Given the description of an element on the screen output the (x, y) to click on. 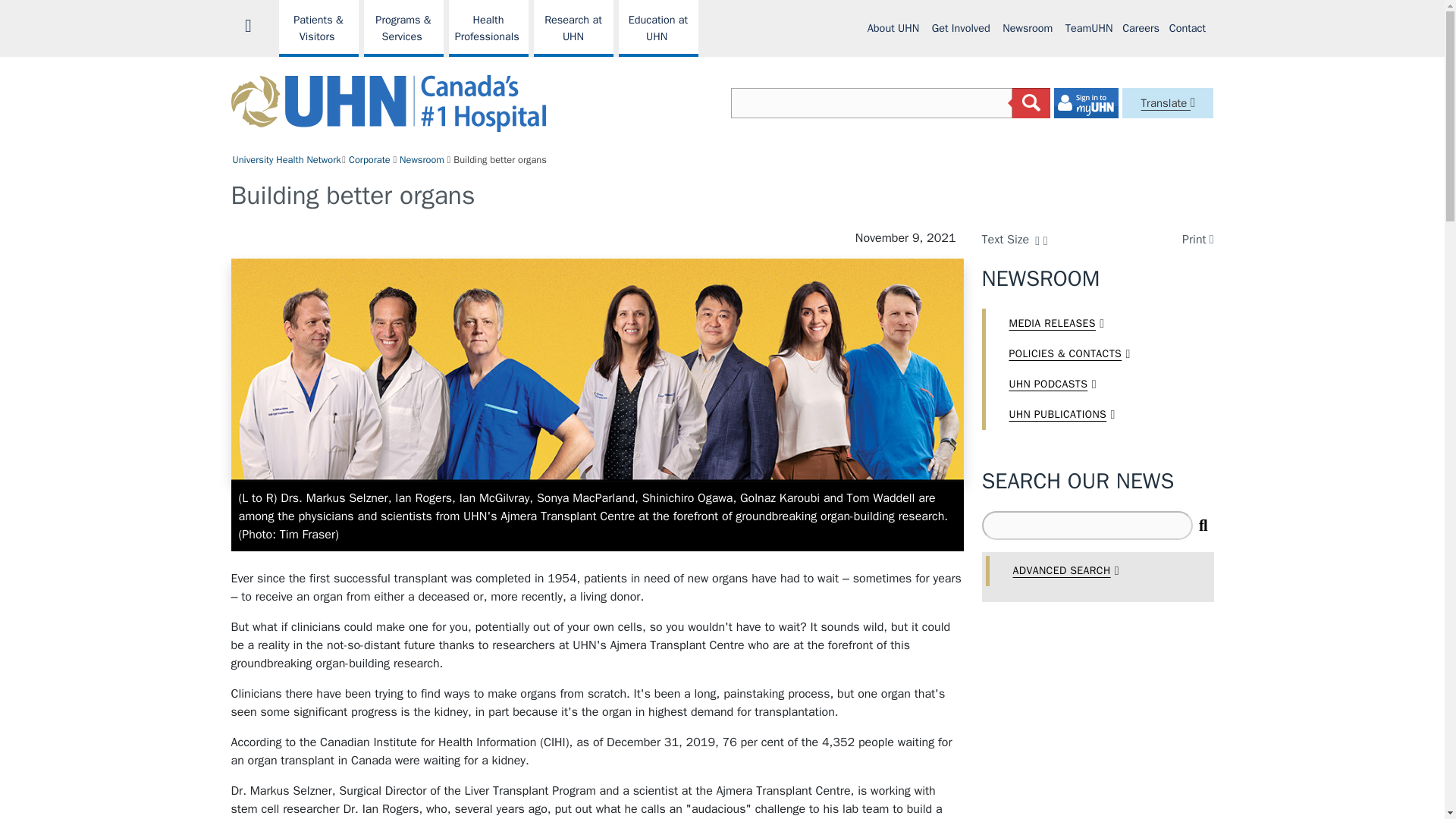
University Health Network Programs (318, 28)
